Given the description of an element on the screen output the (x, y) to click on. 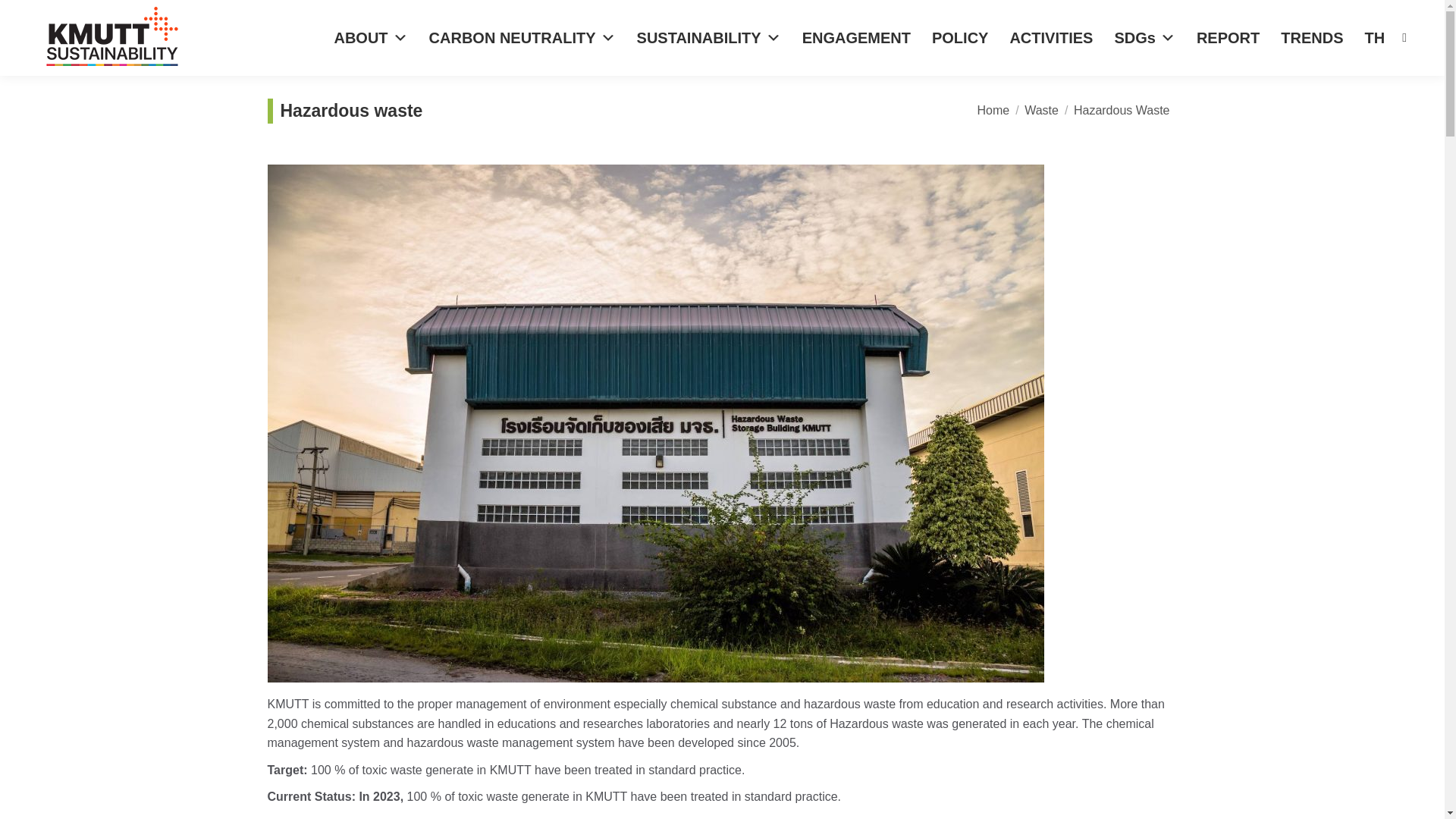
ABOUT (370, 38)
CARBON NEUTRALITY (522, 38)
